Given the description of an element on the screen output the (x, y) to click on. 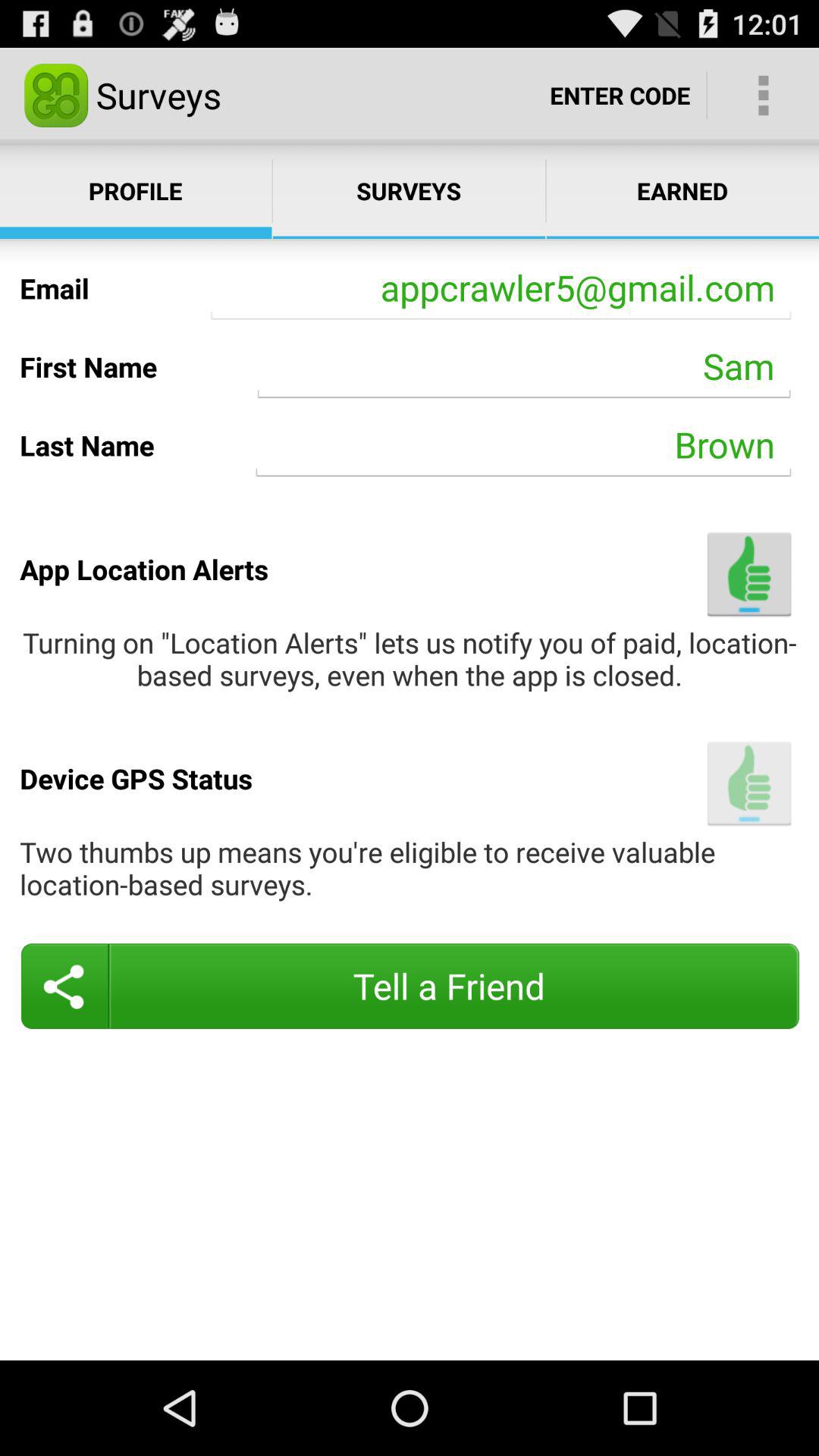
turn off the icon to the right of the device gps status item (749, 783)
